Given the description of an element on the screen output the (x, y) to click on. 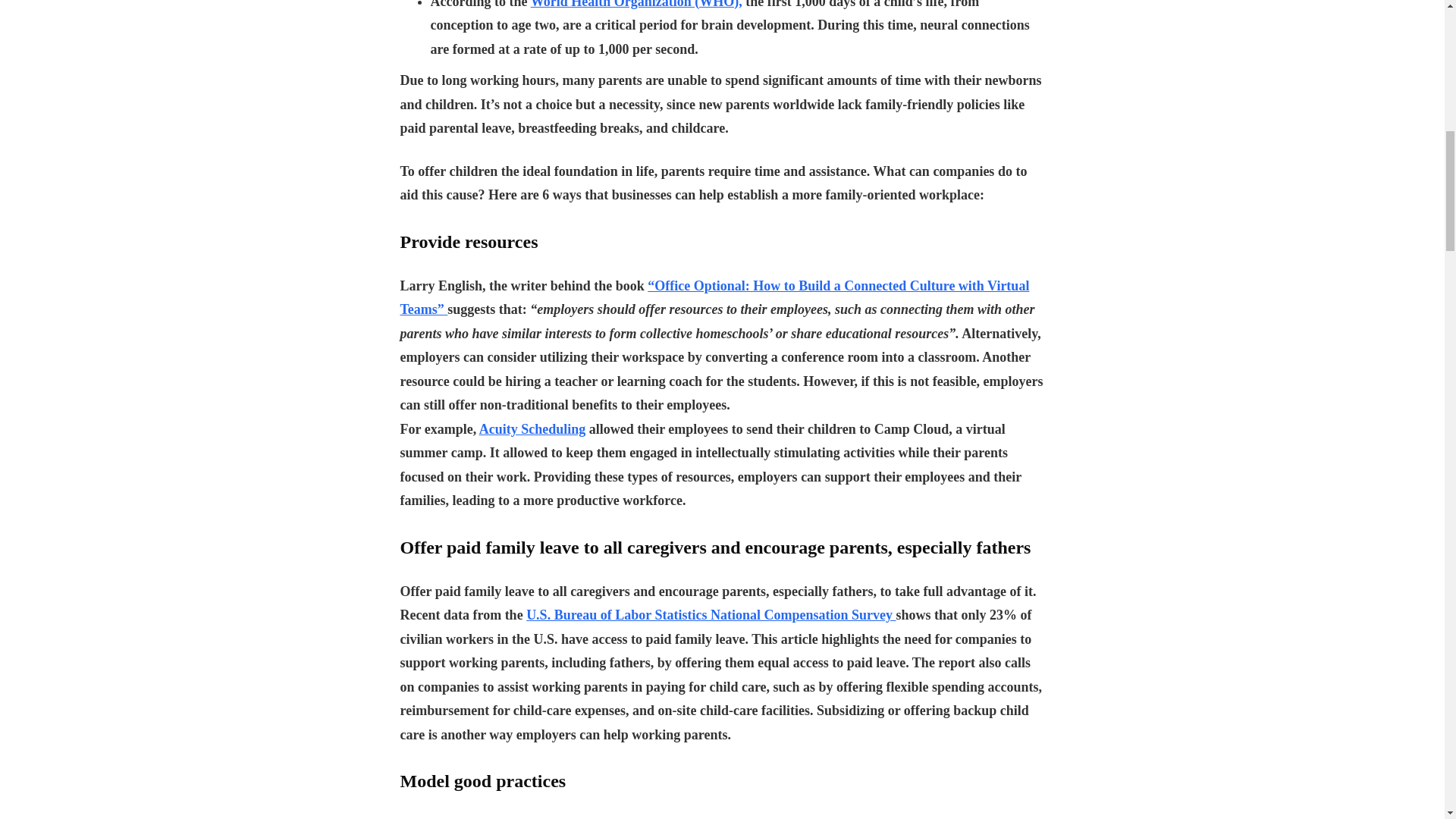
U.S. Bureau of Labor Statistics National Compensation Survey (710, 614)
Acuity Scheduling (532, 428)
